Given the description of an element on the screen output the (x, y) to click on. 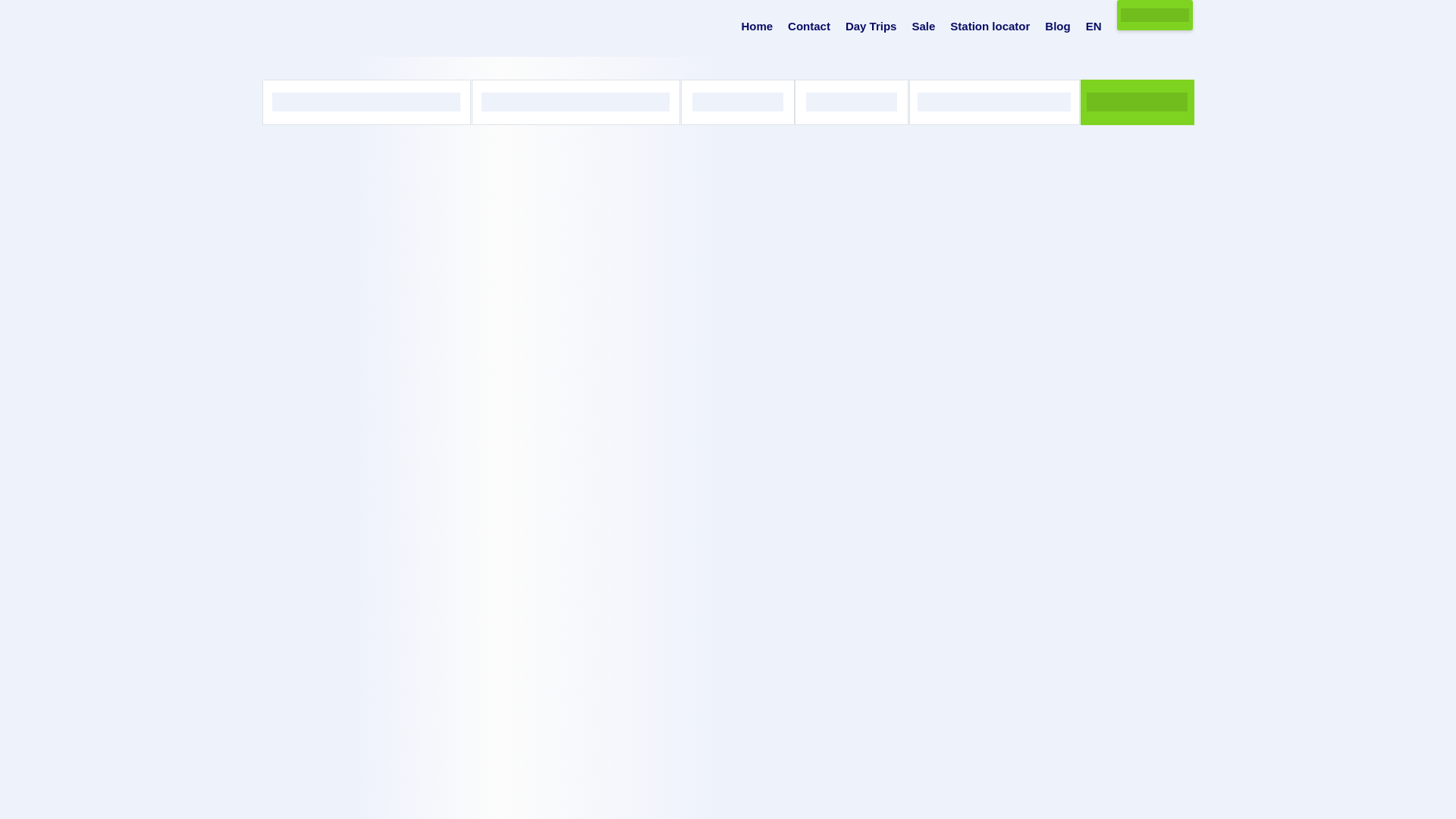
Station locator (989, 26)
Day Trips (870, 26)
